Given the description of an element on the screen output the (x, y) to click on. 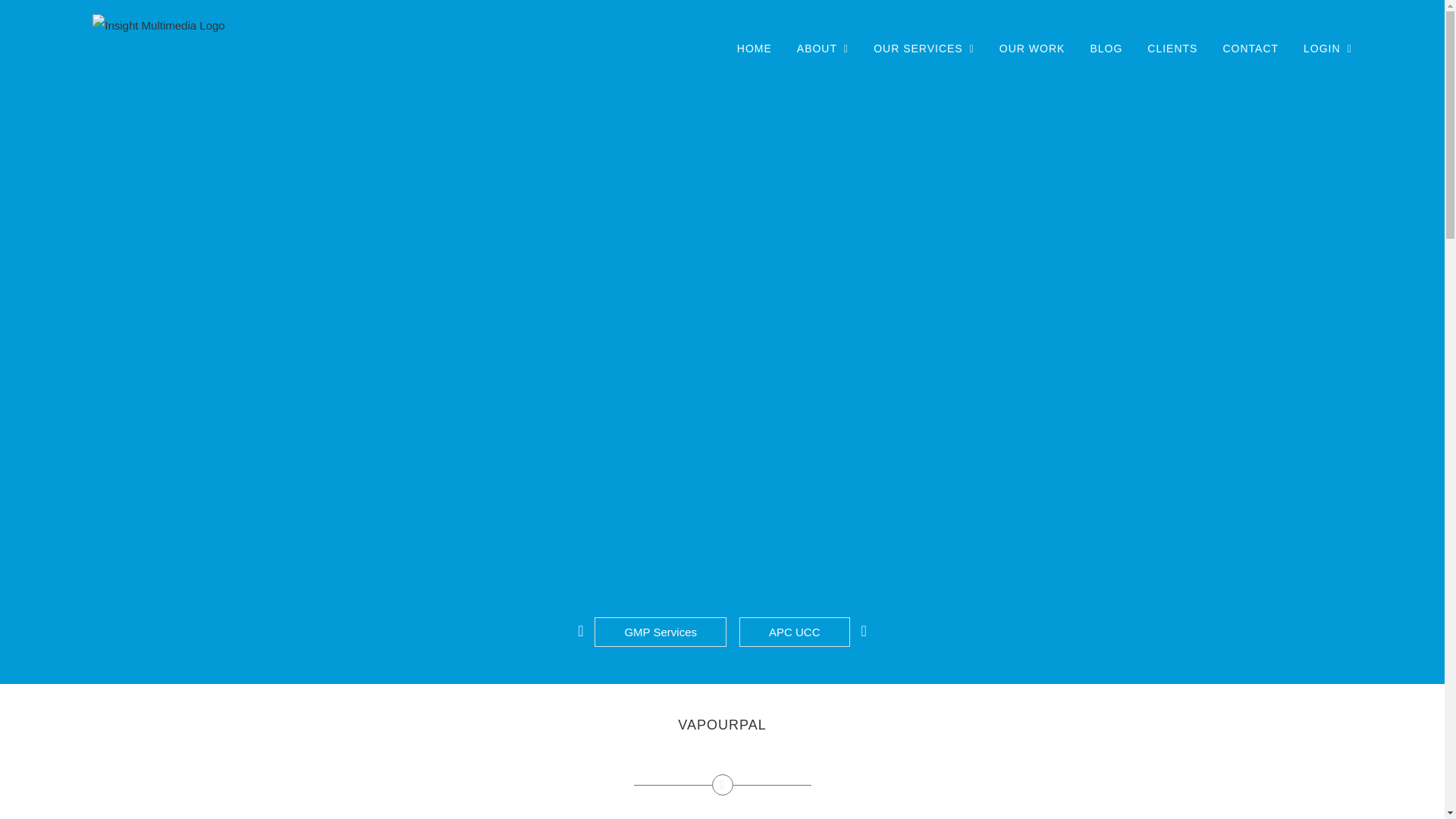
GMP Services (660, 632)
APC UCC (794, 632)
OUR SERVICES (923, 48)
